Given the description of an element on the screen output the (x, y) to click on. 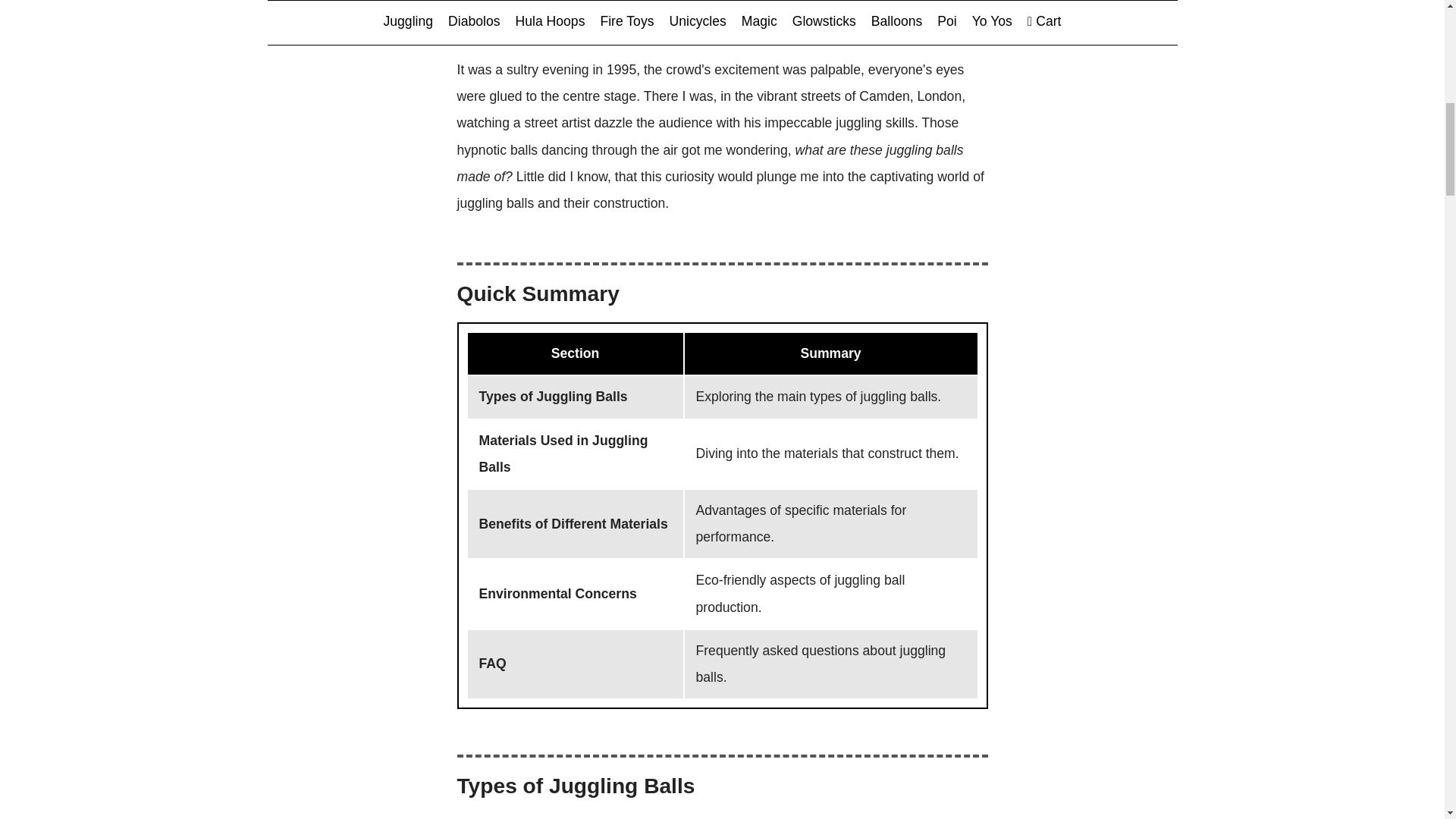
Quick Summary (722, 40)
